Given the description of an element on the screen output the (x, y) to click on. 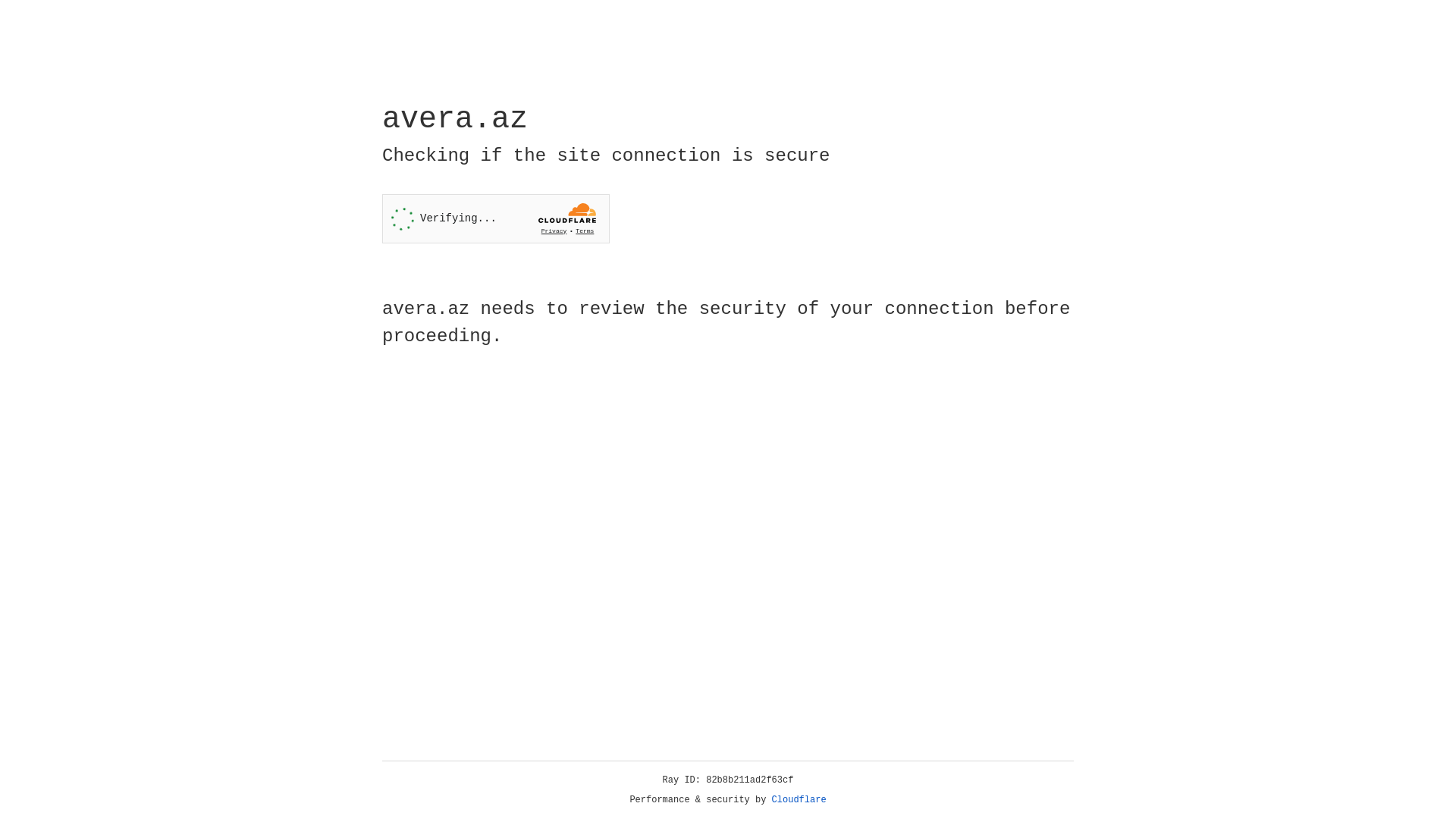
Widget containing a Cloudflare security challenge Element type: hover (495, 218)
Cloudflare Element type: text (798, 799)
